Given the description of an element on the screen output the (x, y) to click on. 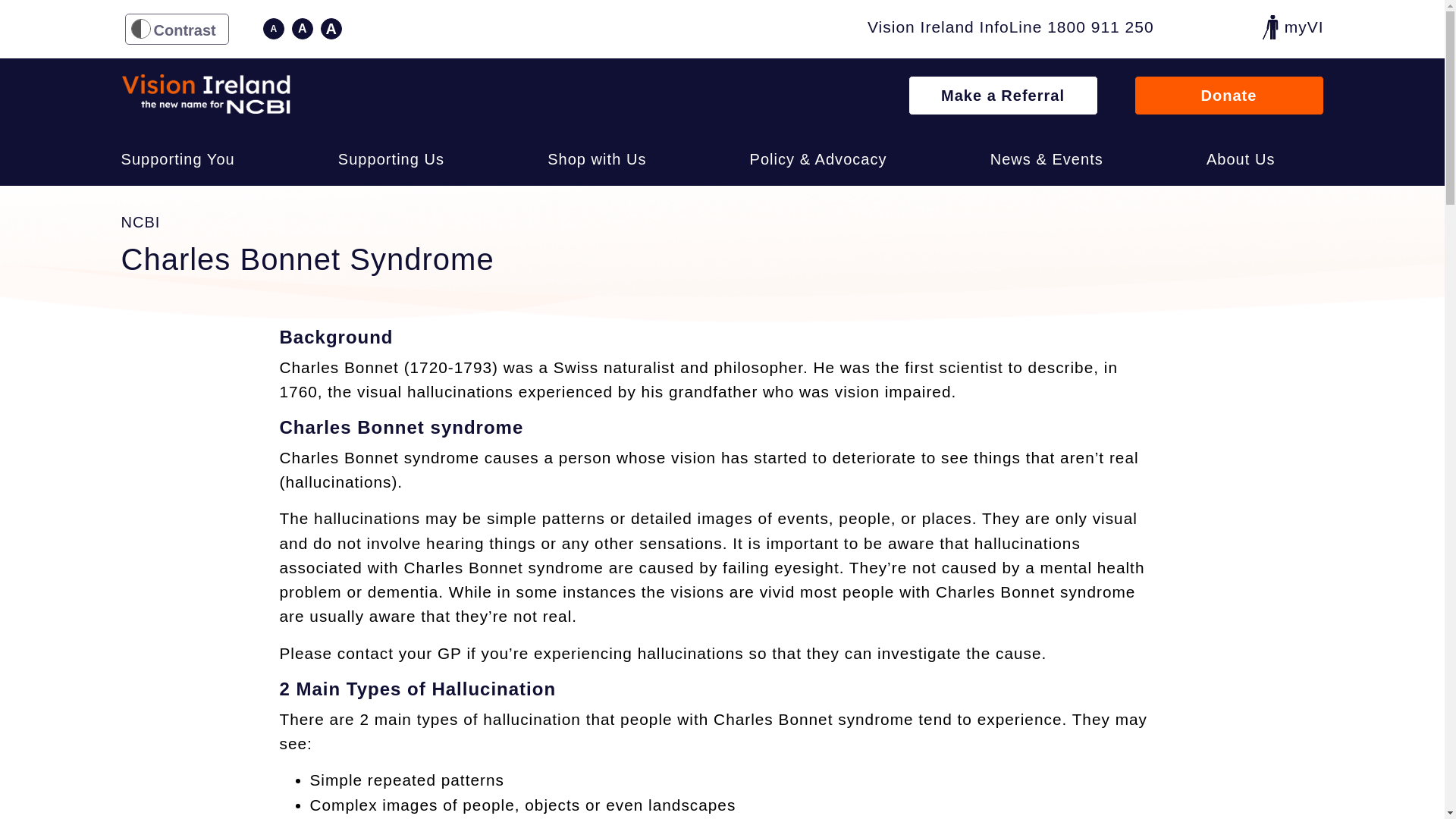
Search (1311, 157)
Make a Referral (1002, 95)
Contrast (175, 29)
Supporting You (177, 159)
Vision Ireland InfoLine 1800 911 250 (1010, 29)
myVI (1291, 27)
Your shopping cart is empty (1230, 28)
Go to NCBI. (140, 221)
A (273, 28)
Donate (1228, 95)
